Given the description of an element on the screen output the (x, y) to click on. 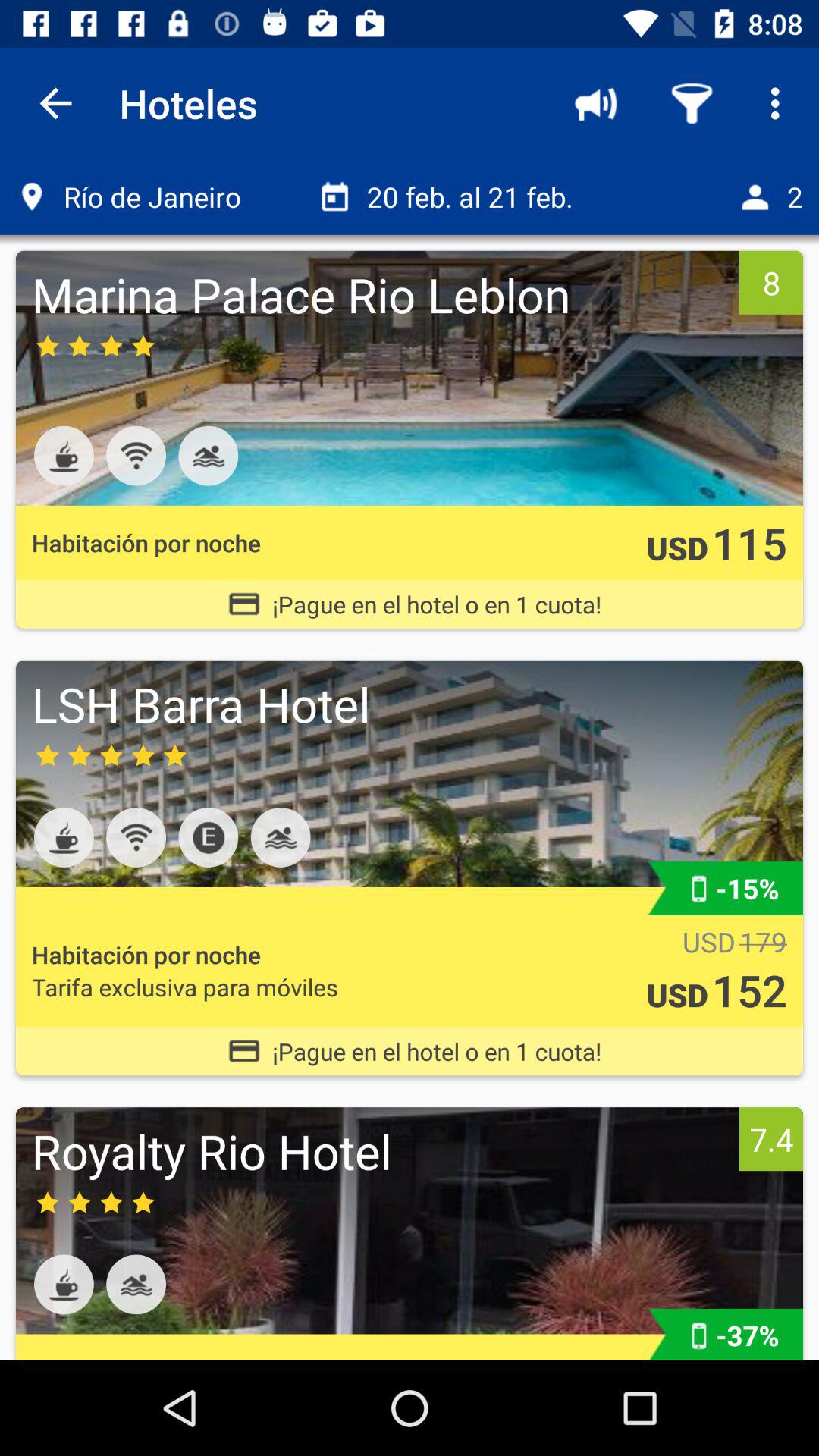
choose the icon to the right of the usd item (749, 542)
